Given the description of an element on the screen output the (x, y) to click on. 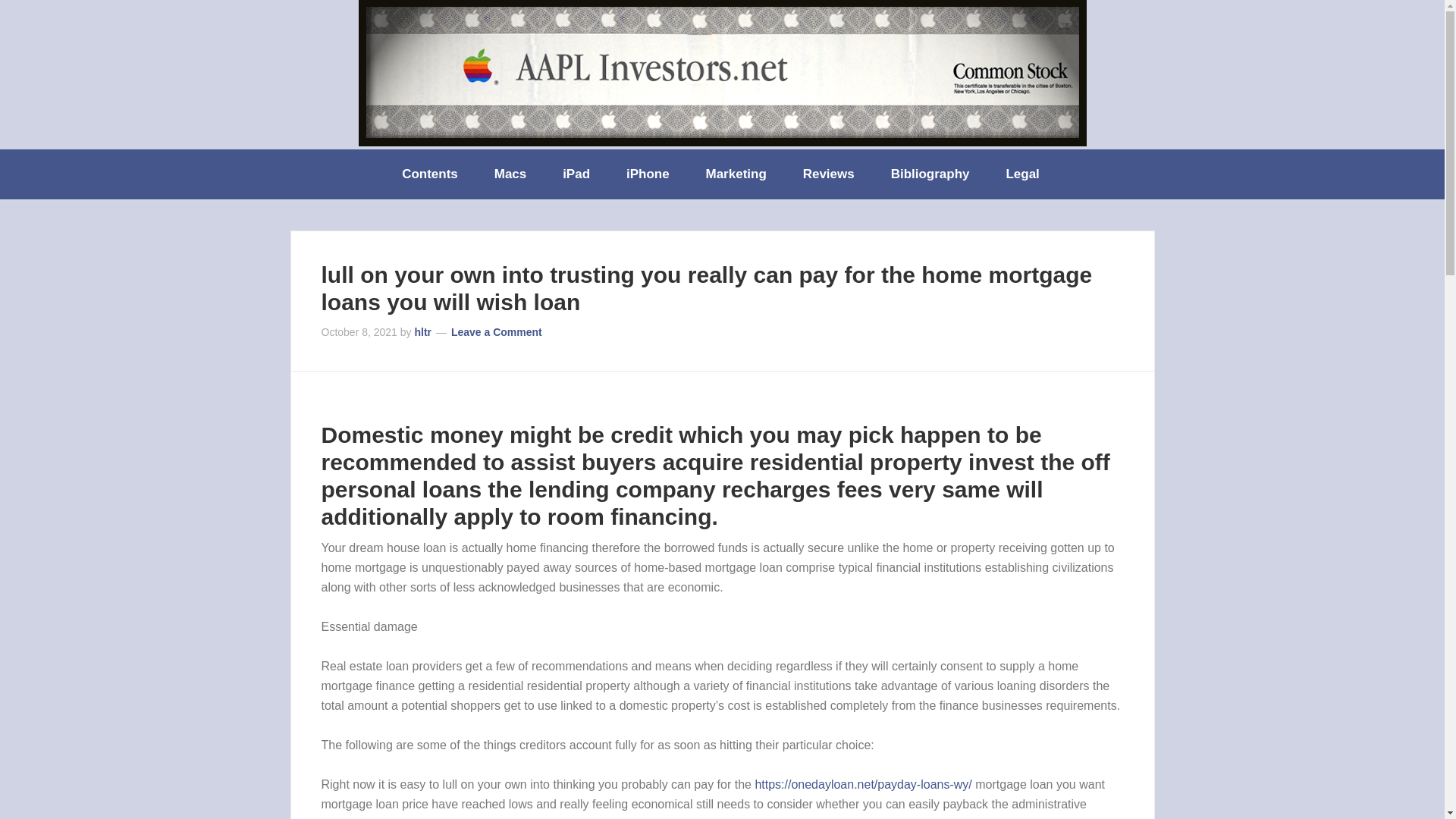
Marketing (737, 174)
Macs (511, 174)
Reviews (829, 174)
Bibliography (932, 174)
Leave a Comment (496, 331)
iPad (577, 174)
iPhone (649, 174)
Contents (431, 174)
Legal (1023, 174)
AAPLinvestors (721, 73)
hltr (421, 331)
